Given the description of an element on the screen output the (x, y) to click on. 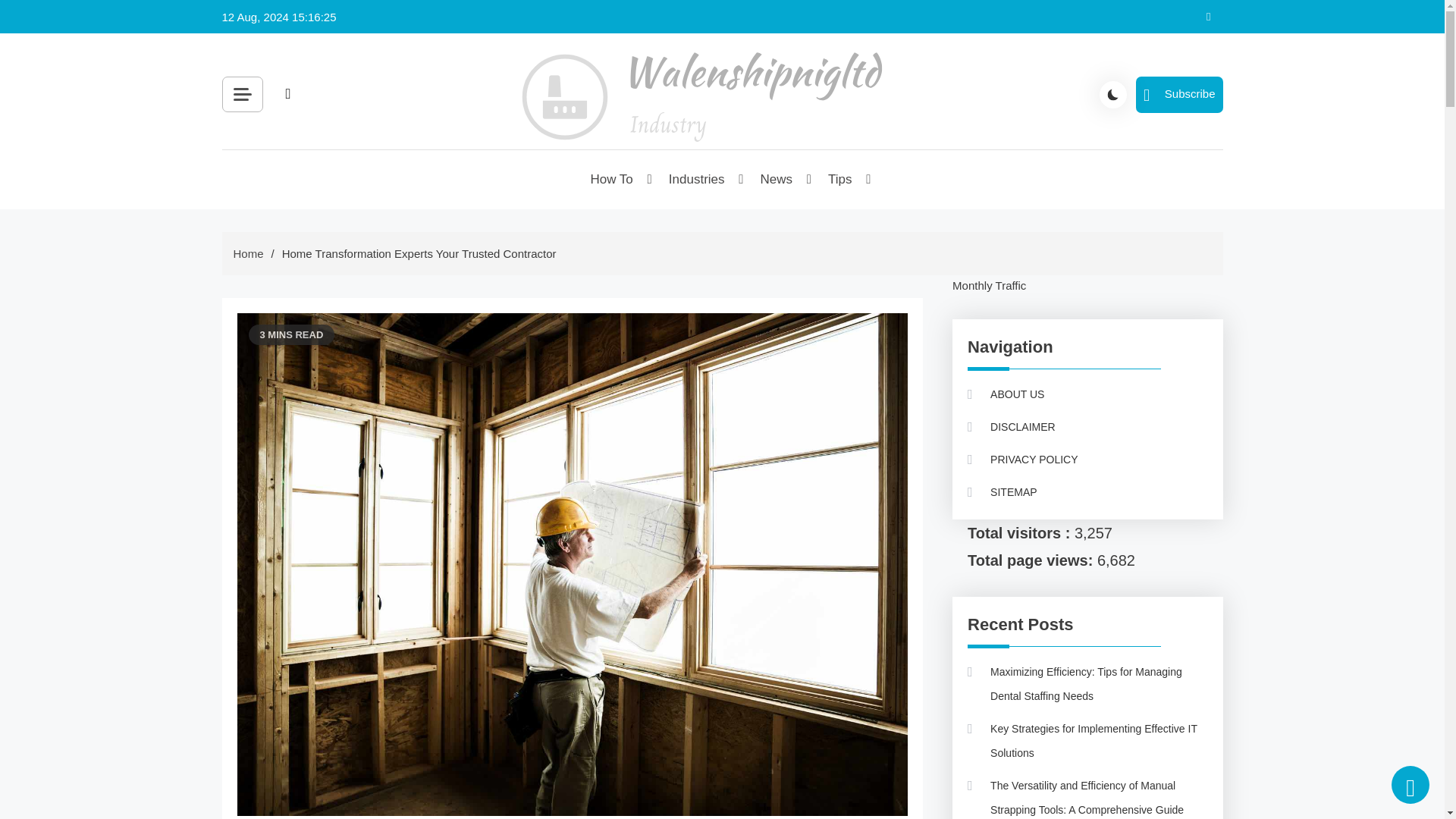
Search (458, 128)
Industries (698, 179)
How To (611, 179)
Walenshipnigltd (608, 169)
Subscribe (1179, 94)
News (778, 179)
Home (247, 253)
site mode button (1112, 93)
Tips (840, 179)
